Given the description of an element on the screen output the (x, y) to click on. 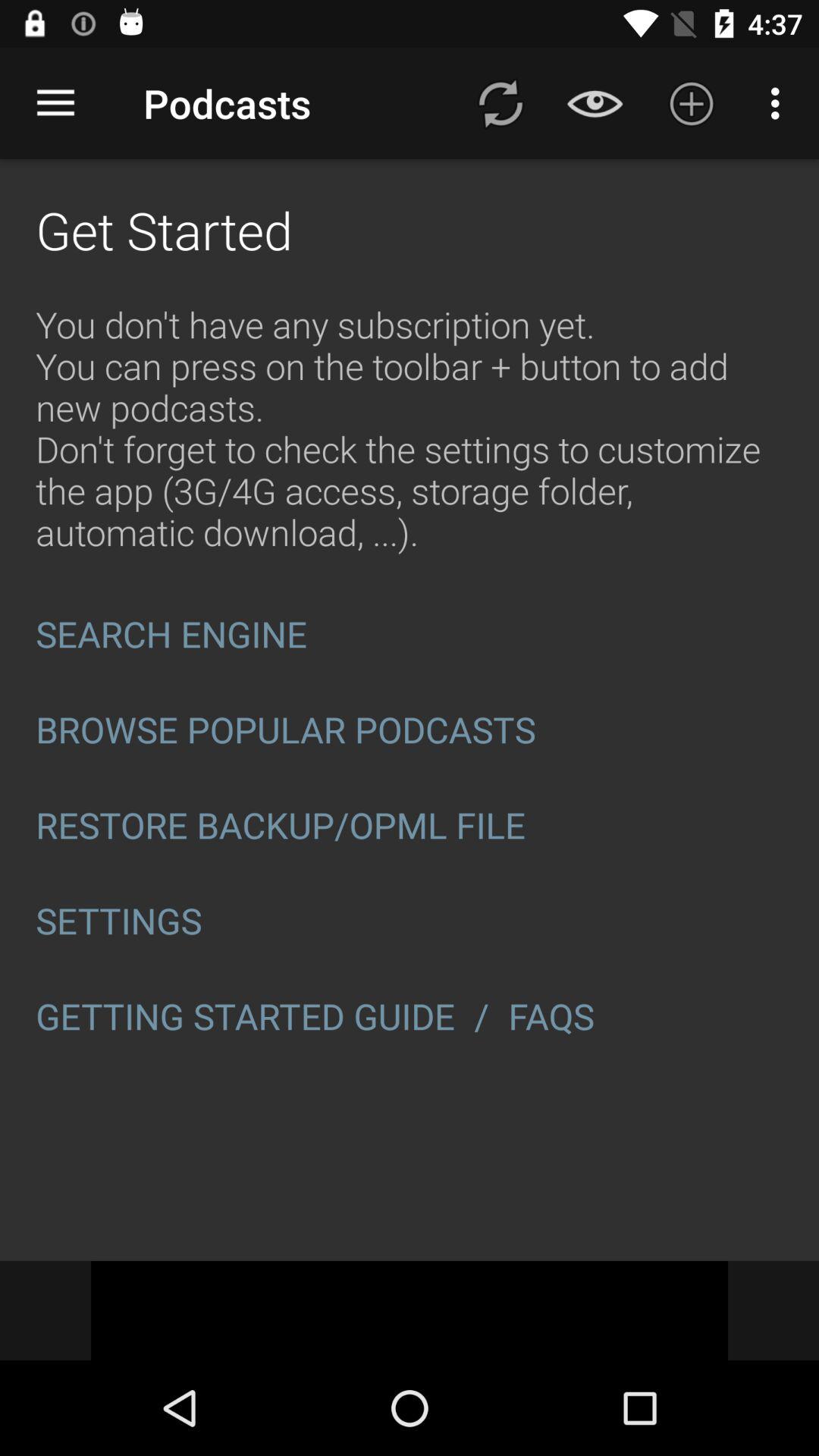
choose browse popular podcasts (409, 729)
